Given the description of an element on the screen output the (x, y) to click on. 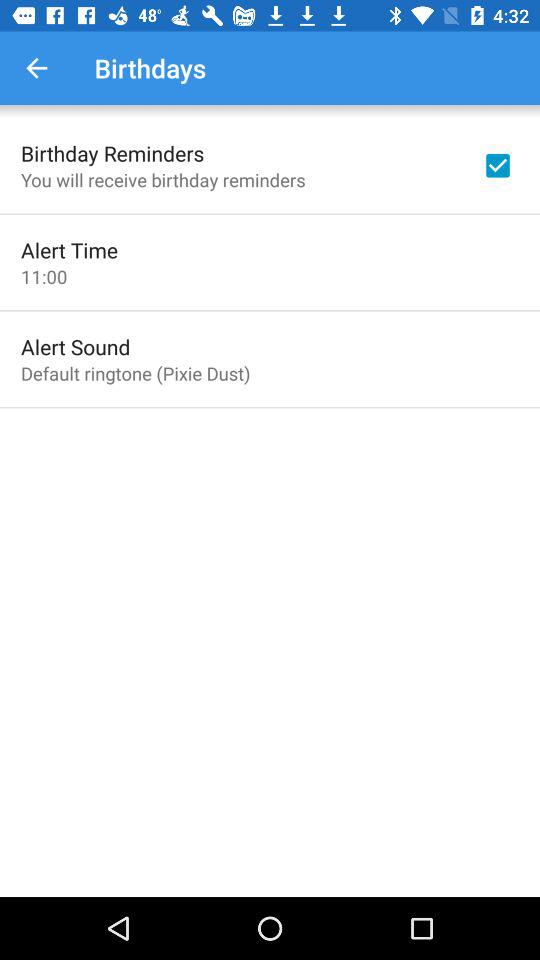
choose icon above the 11:00 item (69, 249)
